Given the description of an element on the screen output the (x, y) to click on. 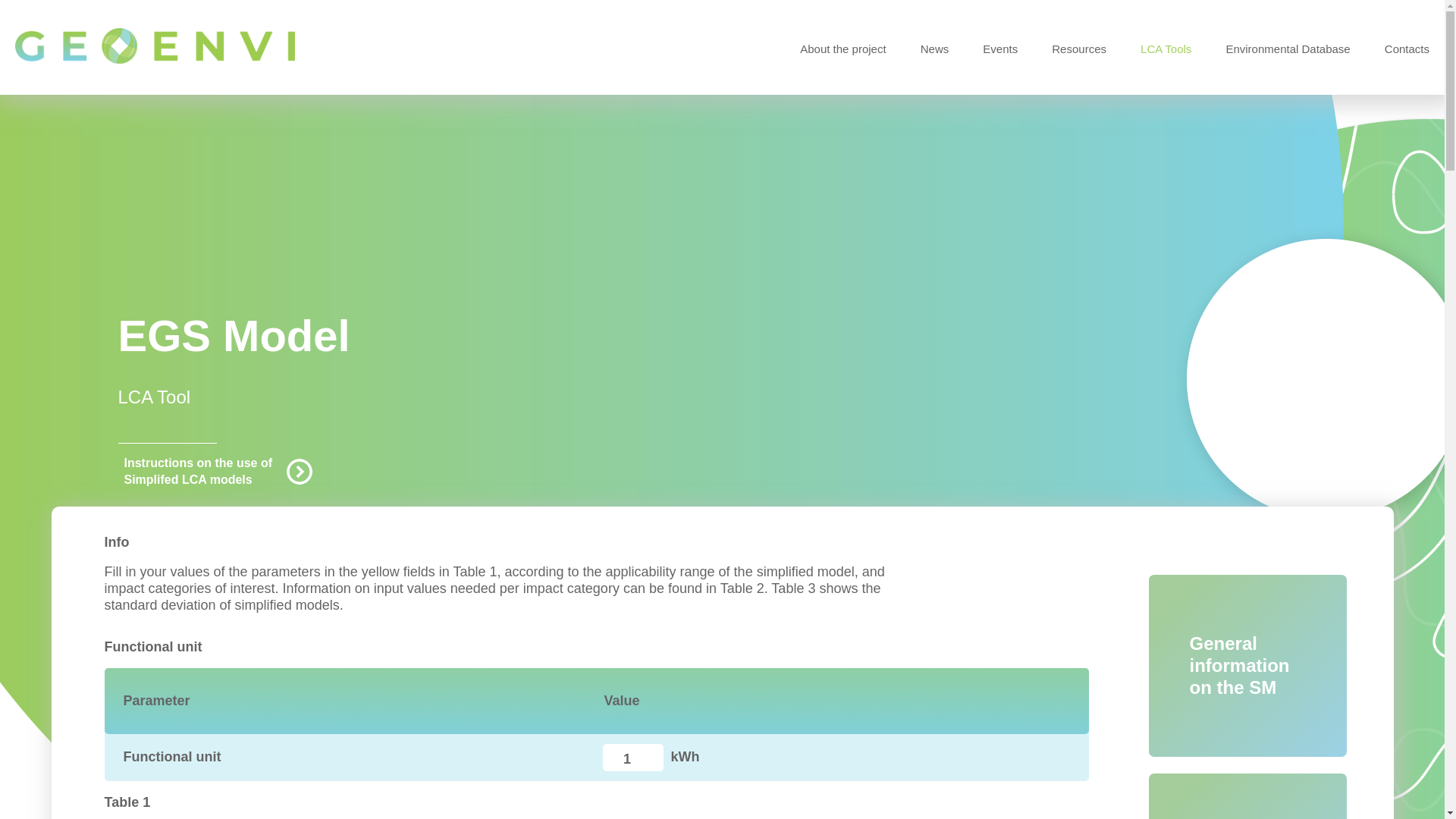
About the project (842, 49)
Contacts (1406, 49)
Events (999, 49)
Environmental Database (1287, 49)
News (934, 49)
LCA Tools (1165, 49)
1 (632, 757)
Resources (1078, 49)
